Given the description of an element on the screen output the (x, y) to click on. 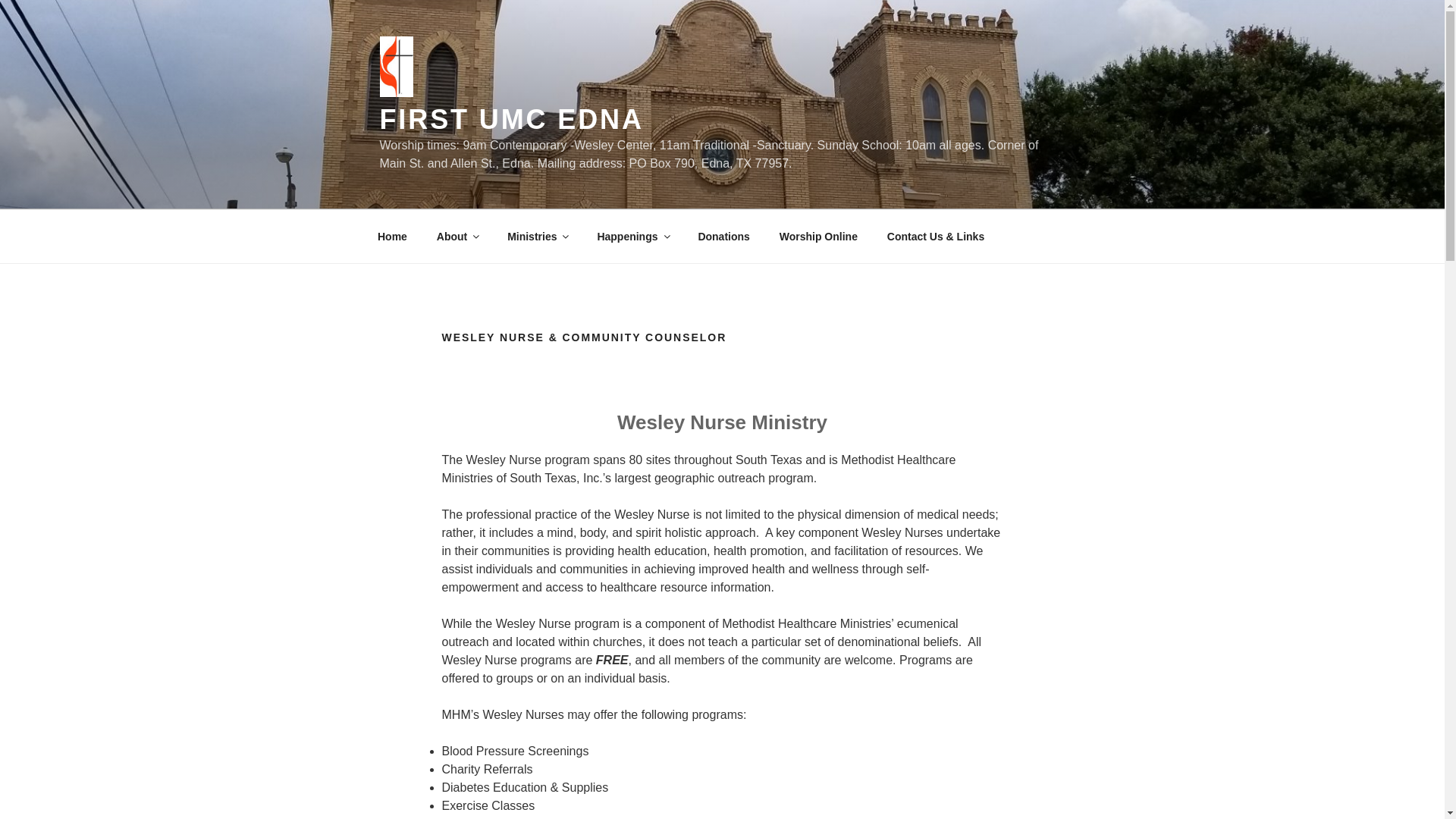
FIRST UMC EDNA (510, 119)
Home (392, 236)
About (456, 236)
Donations (723, 236)
Ministries (537, 236)
Happenings (632, 236)
Worship Online (817, 236)
